Given the description of an element on the screen output the (x, y) to click on. 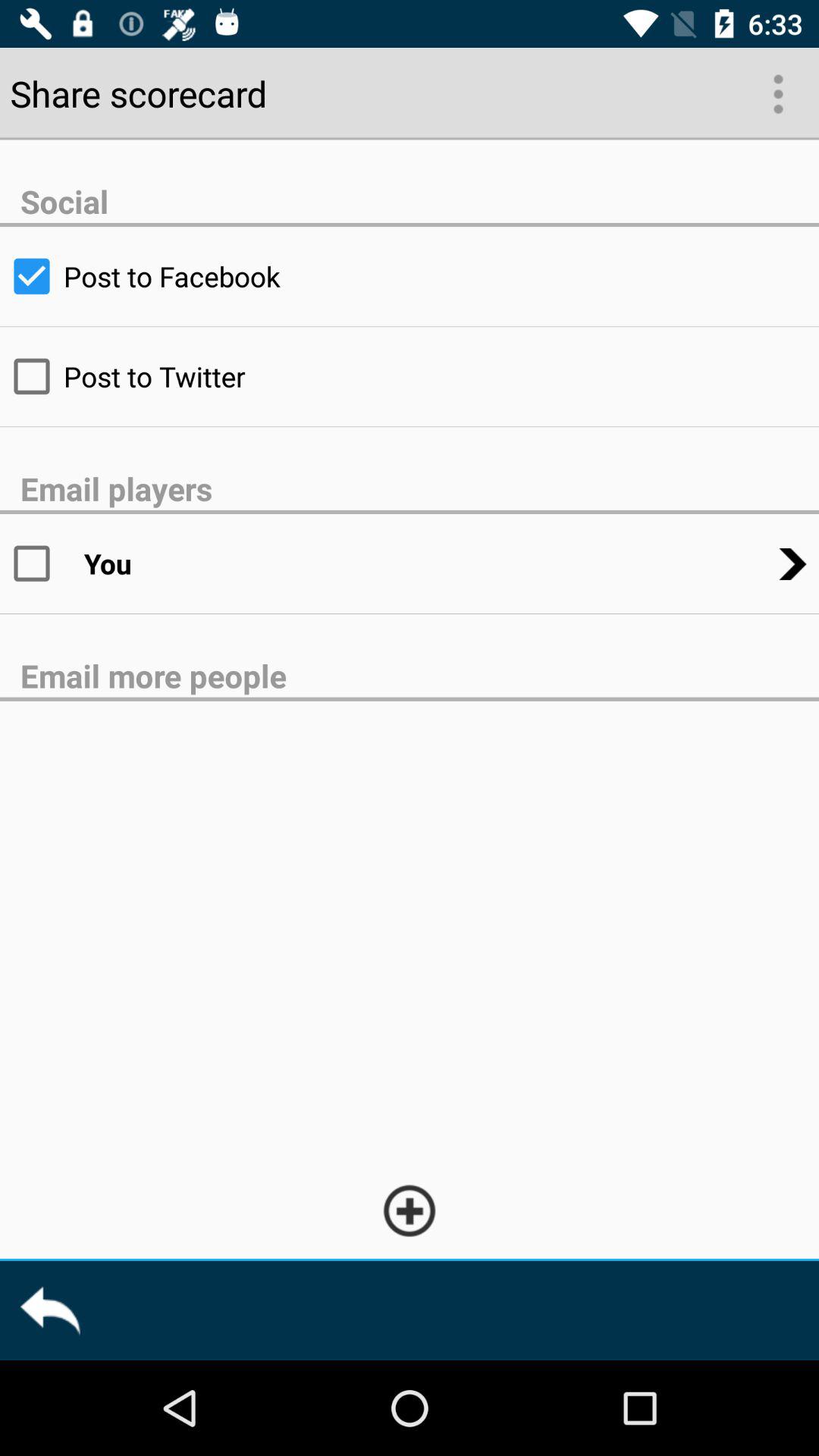
next play button (776, 92)
